Given the description of an element on the screen output the (x, y) to click on. 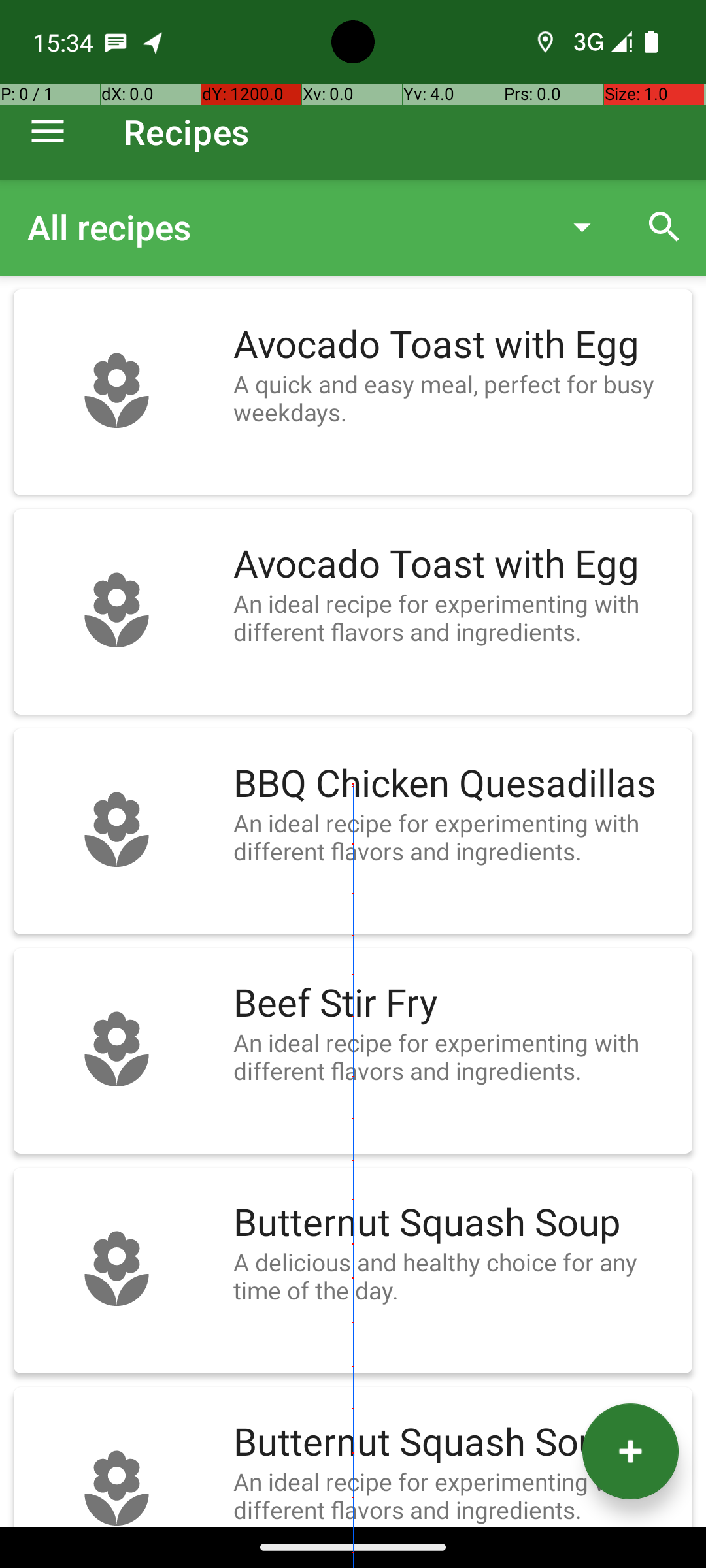
Avocado Toast with Egg Element type: android.widget.TextView (455, 344)
BBQ Chicken Quesadillas Element type: android.widget.TextView (455, 783)
Beef Stir Fry Element type: android.widget.TextView (455, 1003)
Butternut Squash Soup Element type: android.widget.TextView (455, 1222)
